Given the description of an element on the screen output the (x, y) to click on. 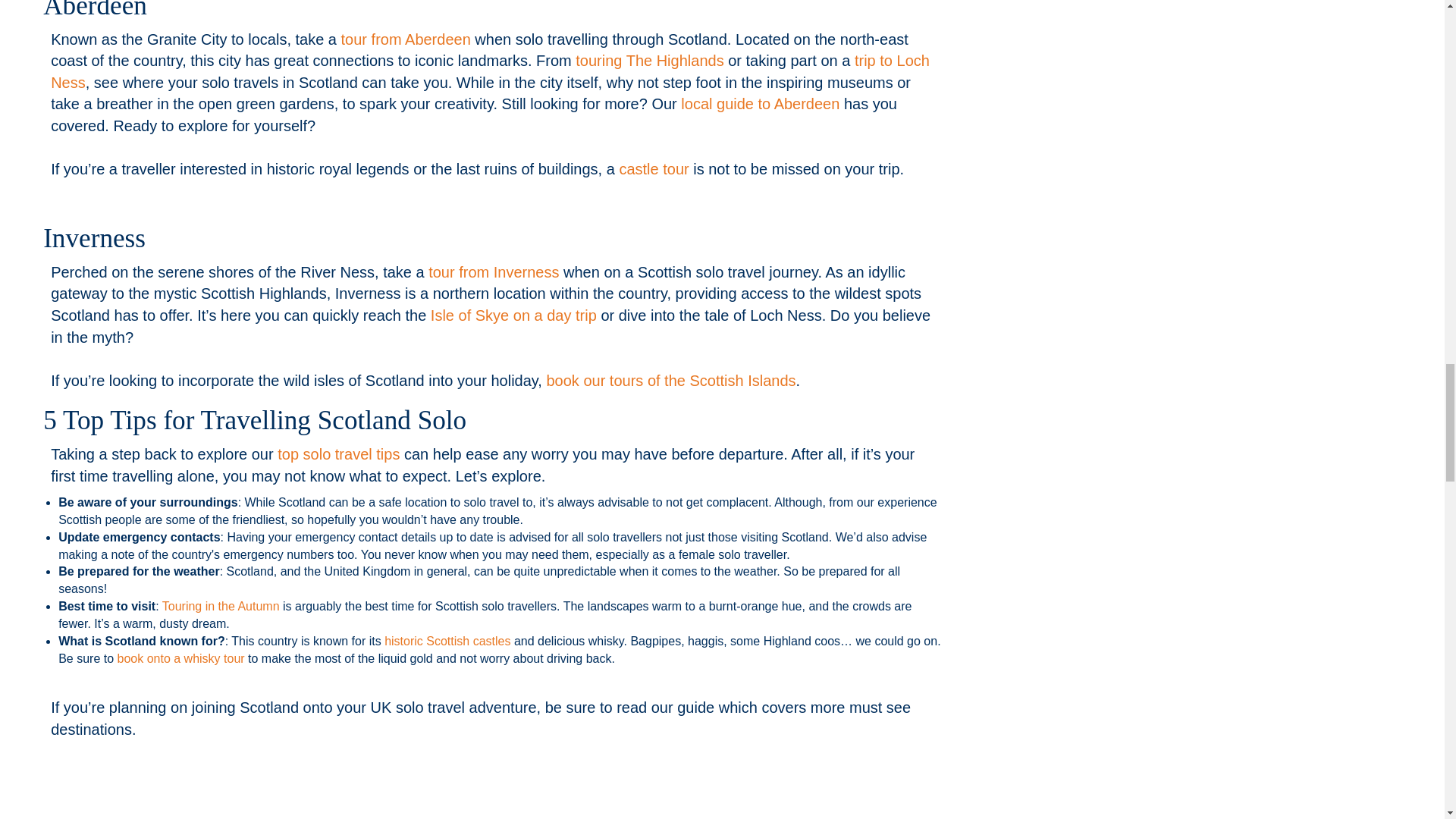
historic Scottish castles (447, 640)
local guide to Aberdeen (760, 103)
solo-travel-with-a-small-group-tour (493, 794)
book our tours of the Scottish Islands (670, 380)
Touring in the Autumn (220, 605)
touring The Highlands (649, 60)
trip to Loch Ness (490, 71)
castle tour (653, 168)
book onto a whisky tour (180, 658)
tour from Aberdeen (405, 39)
